Given the description of an element on the screen output the (x, y) to click on. 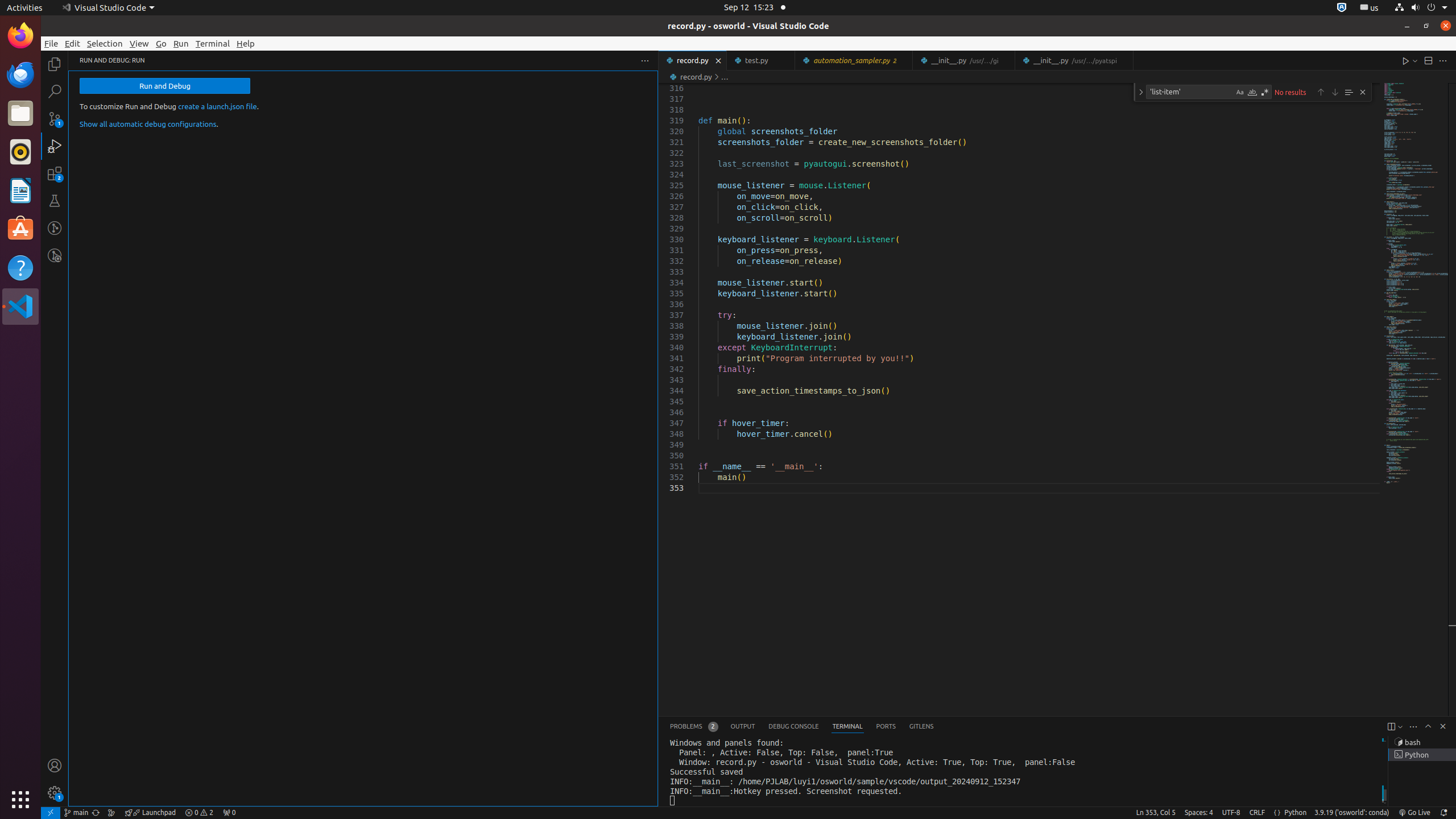
UTF-8 Element type: push-button (1230, 812)
Terminal (Ctrl+`) Element type: page-tab (847, 726)
Warnings: 2 Element type: push-button (199, 812)
Show all automatic debug configurations Element type: push-button (147, 124)
